Given the description of an element on the screen output the (x, y) to click on. 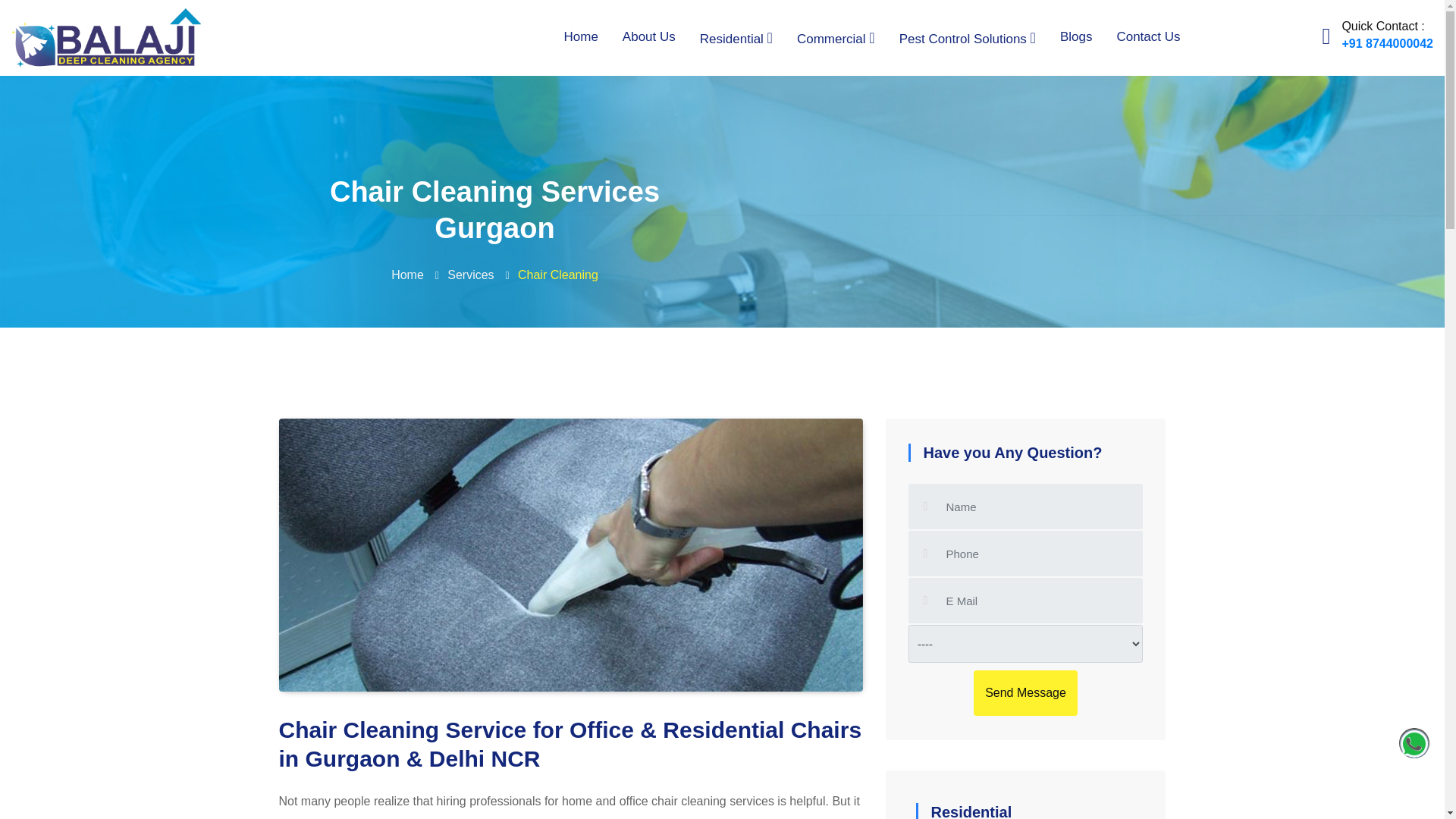
Commercial (835, 38)
About Us (648, 36)
Residential (735, 38)
